Given the description of an element on the screen output the (x, y) to click on. 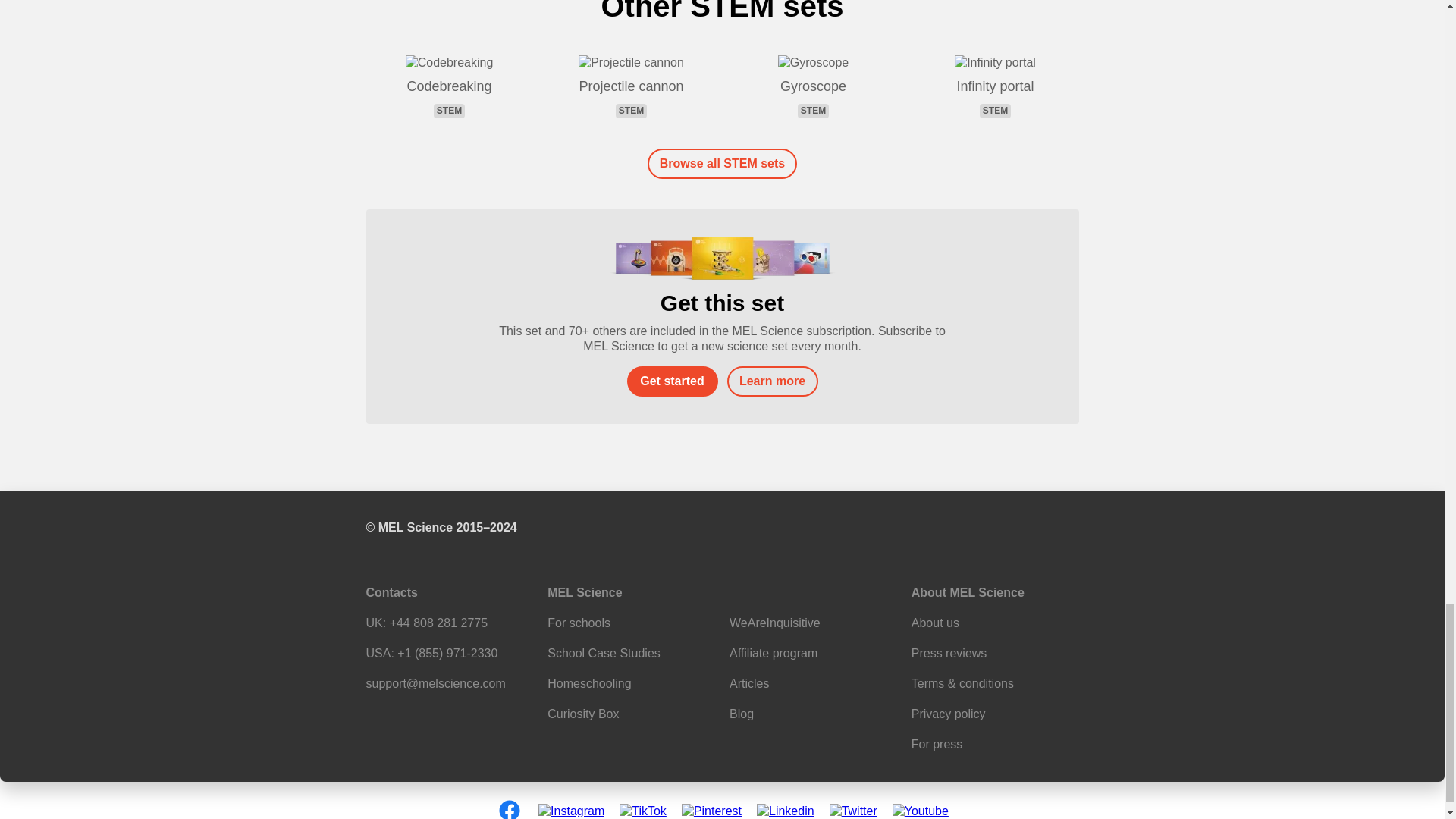
Articles (748, 683)
Homeschooling (588, 683)
About us (935, 622)
Blog (741, 713)
Affiliate program (772, 653)
School Case Studies (994, 86)
Curiosity Box (604, 653)
Browse all STEM sets (582, 713)
Learn more (721, 163)
